Given the description of an element on the screen output the (x, y) to click on. 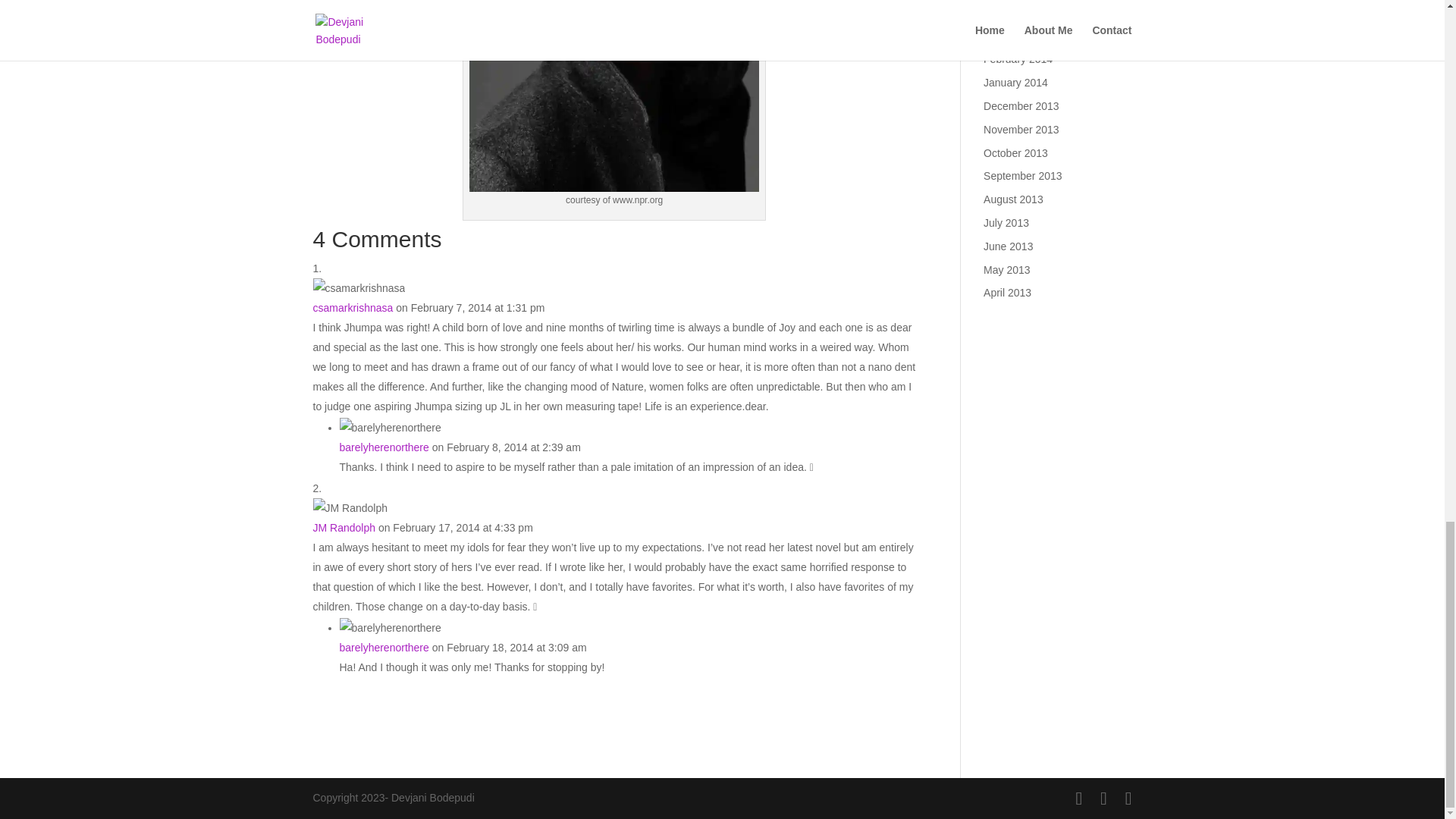
barelyherenorthere (384, 447)
barelyherenorthere (384, 647)
JM Randolph (344, 527)
csamarkrishnasa (353, 307)
